Given the description of an element on the screen output the (x, y) to click on. 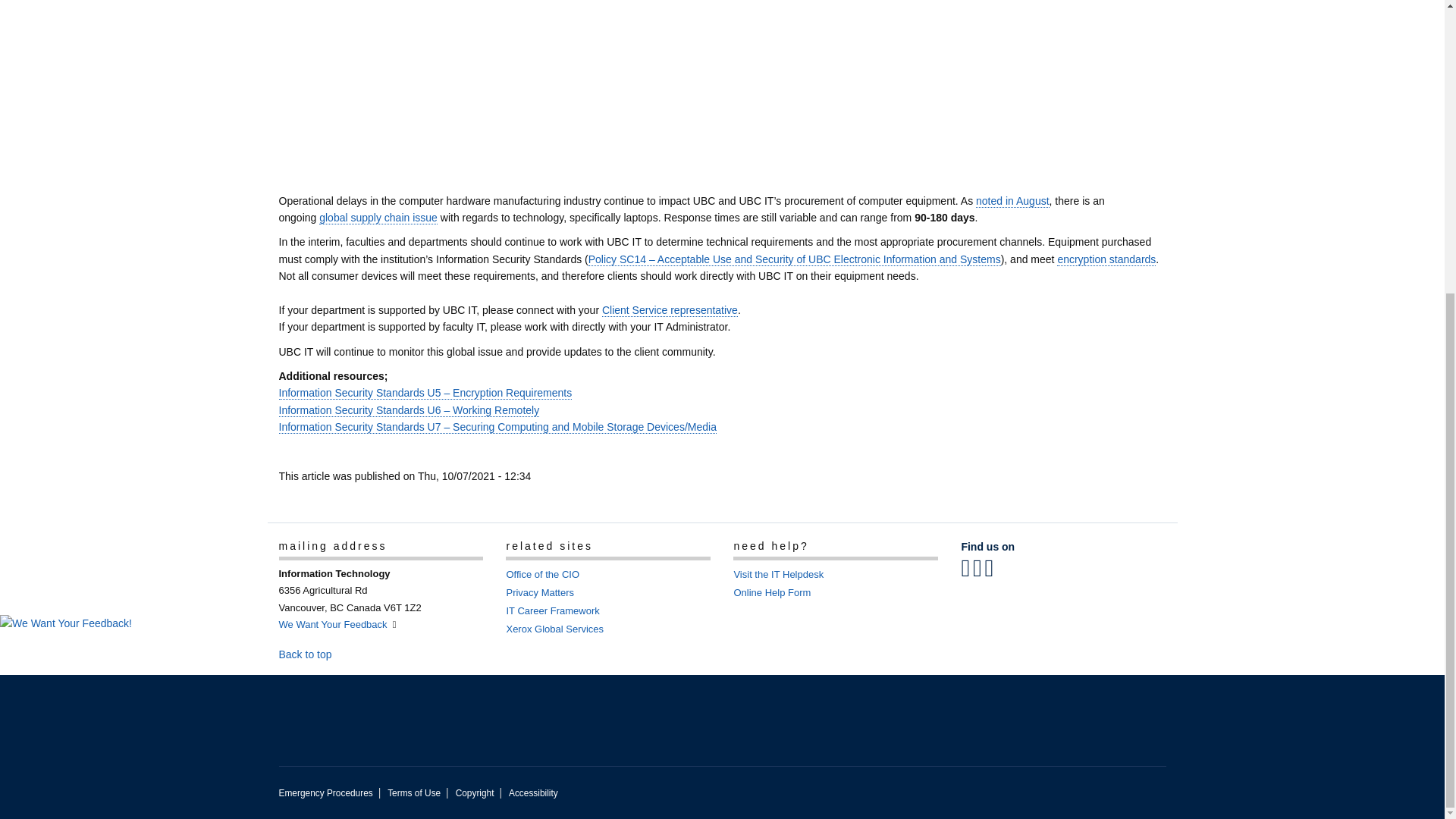
IT Helpdesk (778, 573)
Back to top (312, 654)
Information Technology (333, 624)
BC (336, 607)
